Given the description of an element on the screen output the (x, y) to click on. 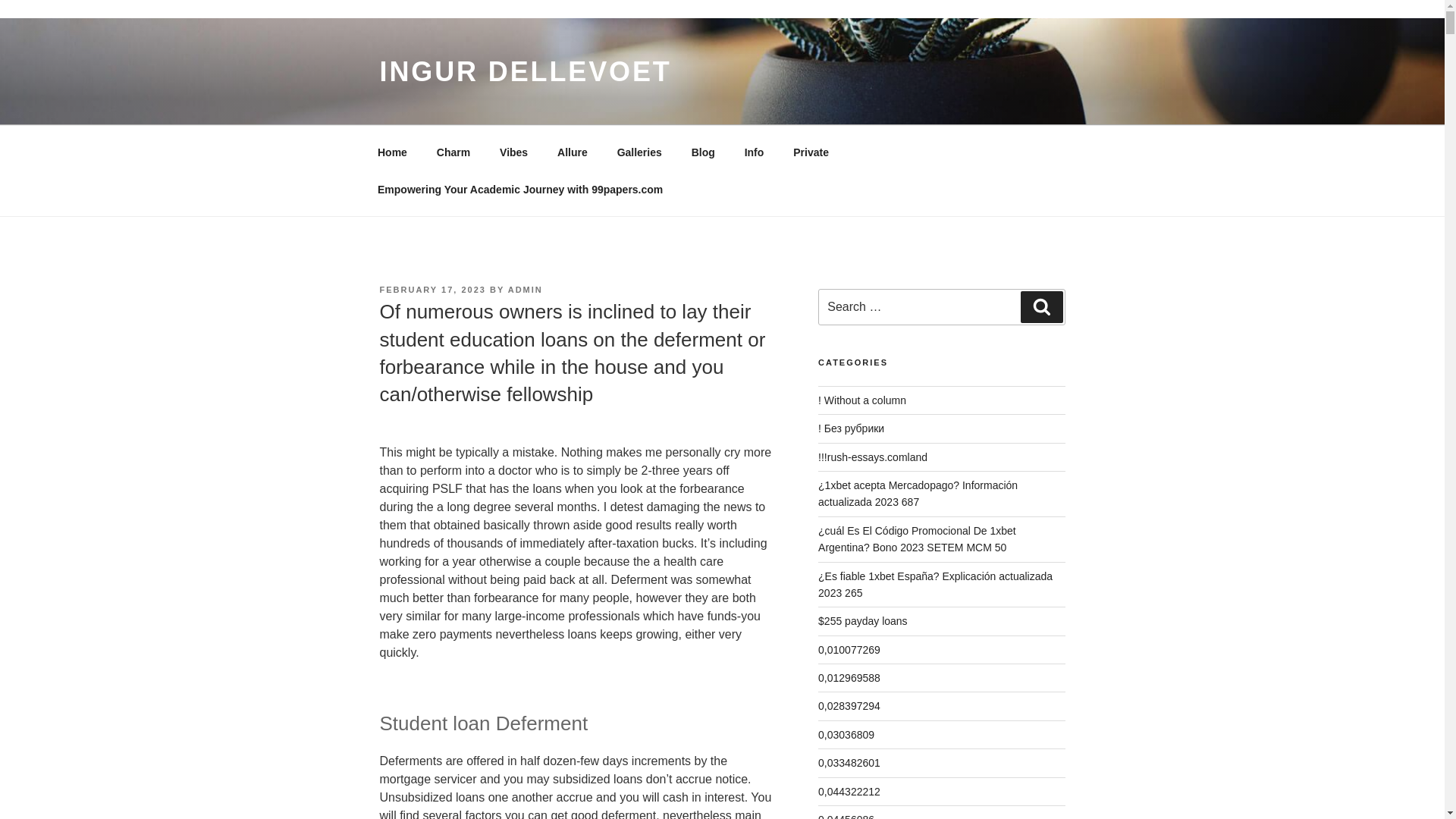
0,012969588 (849, 677)
0,033482601 (849, 762)
Charm (453, 151)
Empowering Your Academic Journey with 99papers.com (519, 189)
Private (811, 151)
Info (753, 151)
Vibes (513, 151)
Search (1041, 306)
INGUR DELLEVOET (524, 71)
! Without a column (861, 399)
